Given the description of an element on the screen output the (x, y) to click on. 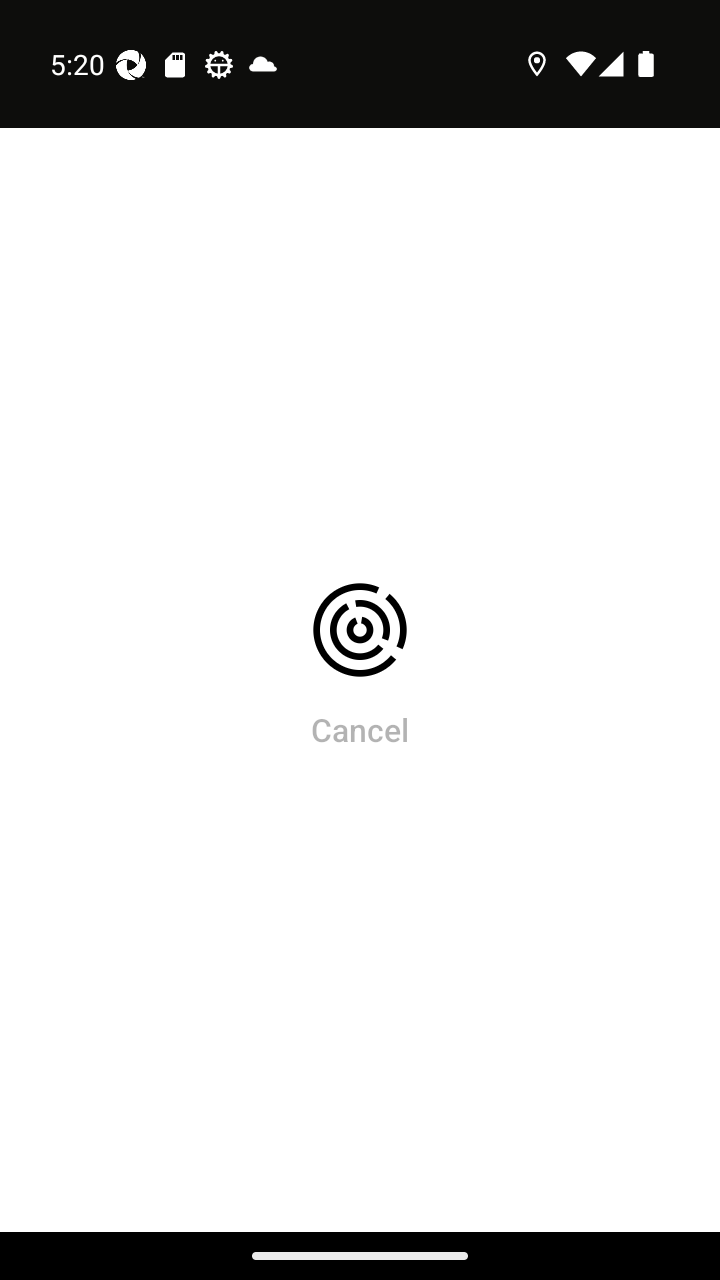
Cancel (360, 729)
